Given the description of an element on the screen output the (x, y) to click on. 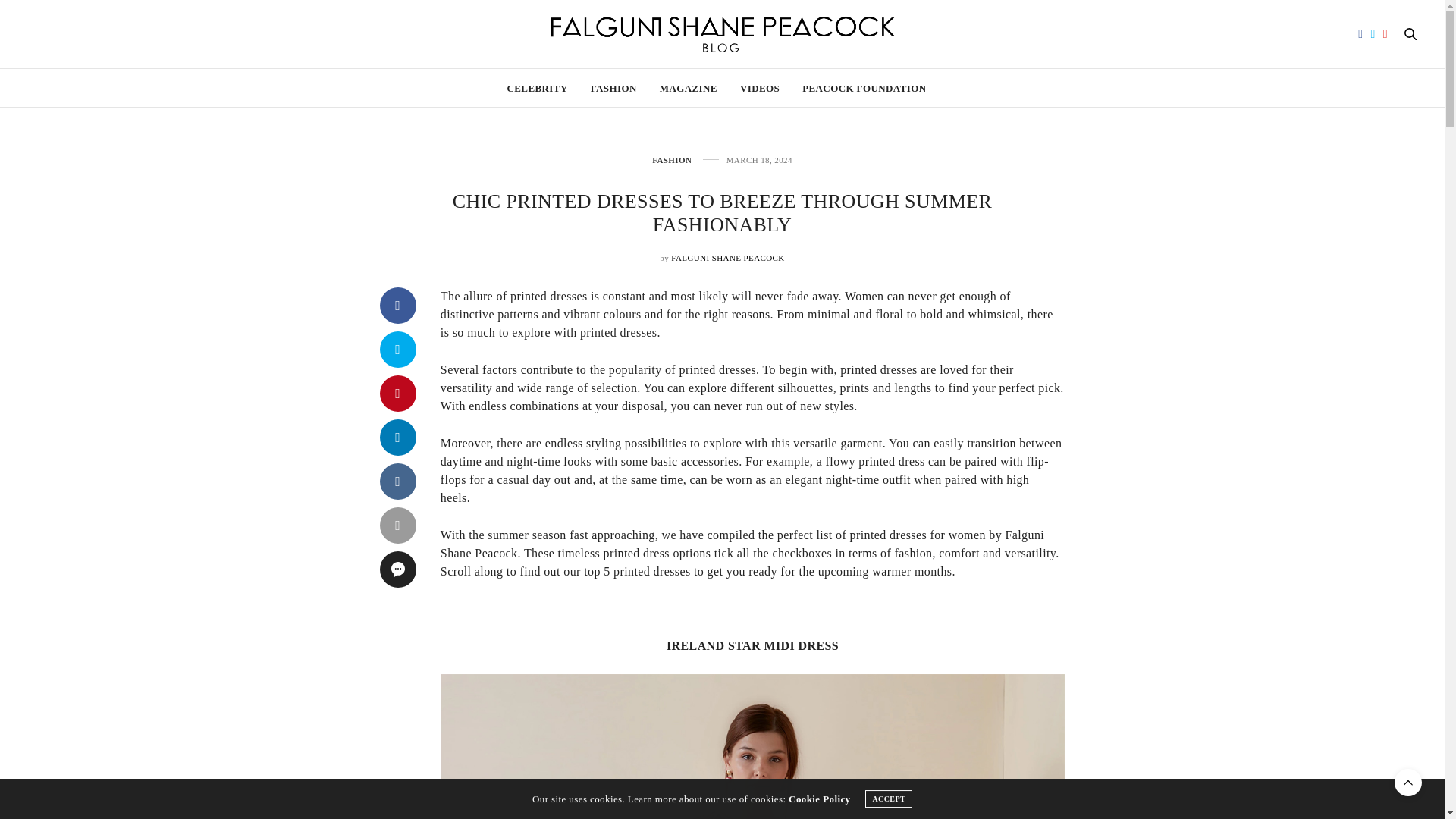
Scroll To Top (1408, 782)
FALGUNI SHANE PEACOCK (727, 257)
VIDEOS (758, 87)
FASHION (614, 87)
FASHION (671, 160)
PEACOCK FOUNDATION (864, 87)
MAGAZINE (688, 87)
Posts by Falguni Shane Peacock (727, 257)
CELEBRITY (536, 87)
